Given the description of an element on the screen output the (x, y) to click on. 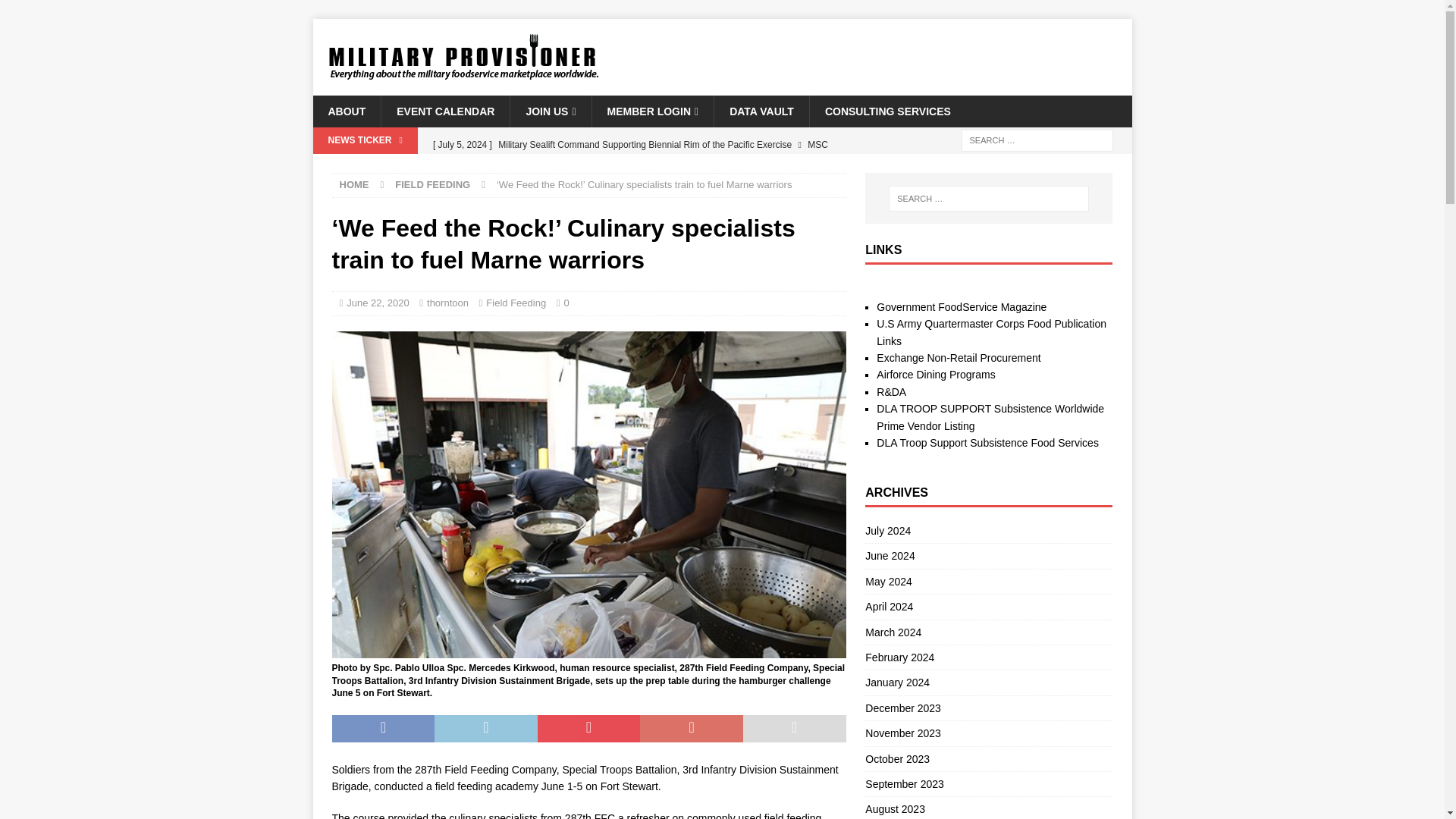
FIELD FEEDING (432, 184)
HOME (354, 184)
June 22, 2020 (377, 302)
EVENT CALENDAR (444, 111)
MEMBER LOGIN (652, 111)
DATA VAULT (761, 111)
ABOUT (346, 111)
CONSULTING SERVICES (887, 111)
Search (56, 11)
JOIN US (550, 111)
thorntoon (447, 302)
Field Feeding (516, 302)
